Given the description of an element on the screen output the (x, y) to click on. 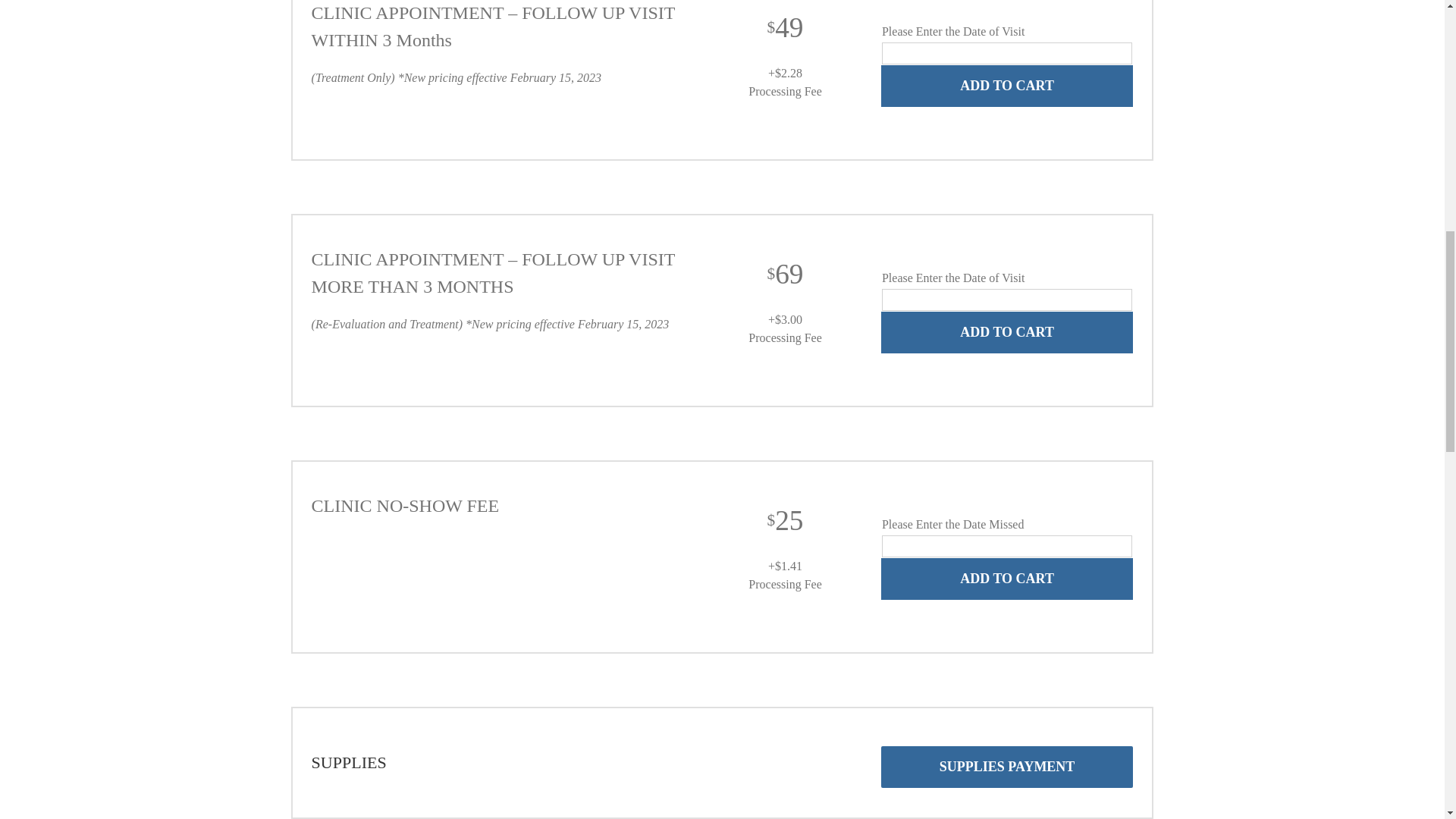
PayPal - The safer, easier way to pay online! (1006, 86)
Add to Cart (1006, 86)
Add to Cart (1006, 332)
PayPal - The safer, easier way to pay online! (1006, 578)
Add to Cart (1006, 578)
Add to Cart (1006, 86)
Add to Cart (1006, 332)
SUPPLIES PAYMENT (1006, 766)
PayPal - The safer, easier way to pay online! (1006, 332)
Supplies Payment (1006, 766)
Add to Cart (1006, 578)
